Given the description of an element on the screen output the (x, y) to click on. 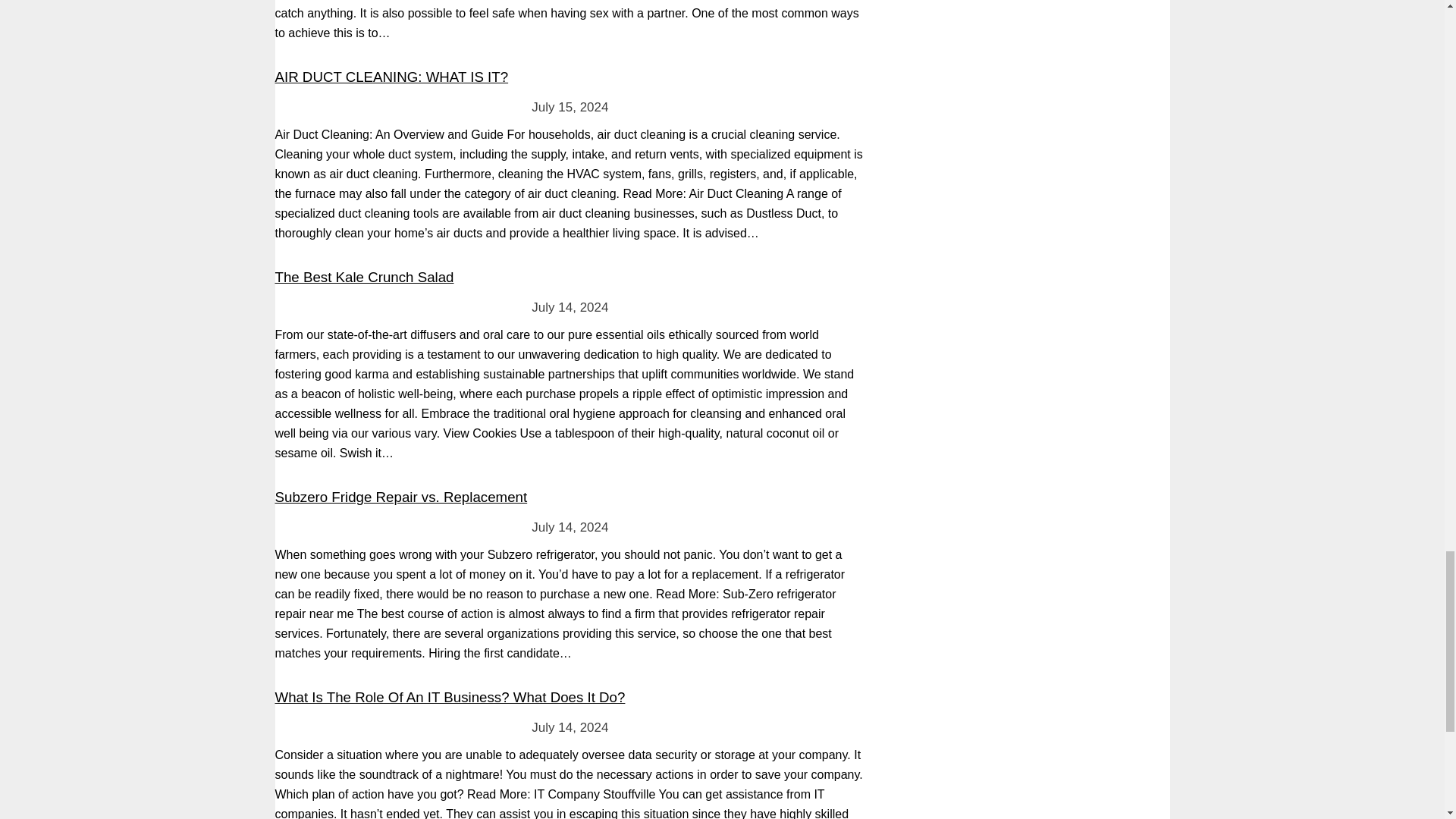
What Is The Role Of An IT Business? What Does It Do? (449, 697)
Subzero Fridge Repair vs. Replacement (401, 496)
The Best Kale Crunch Salad (363, 277)
AIR DUCT CLEANING: WHAT IS IT? (391, 76)
